Given the description of an element on the screen output the (x, y) to click on. 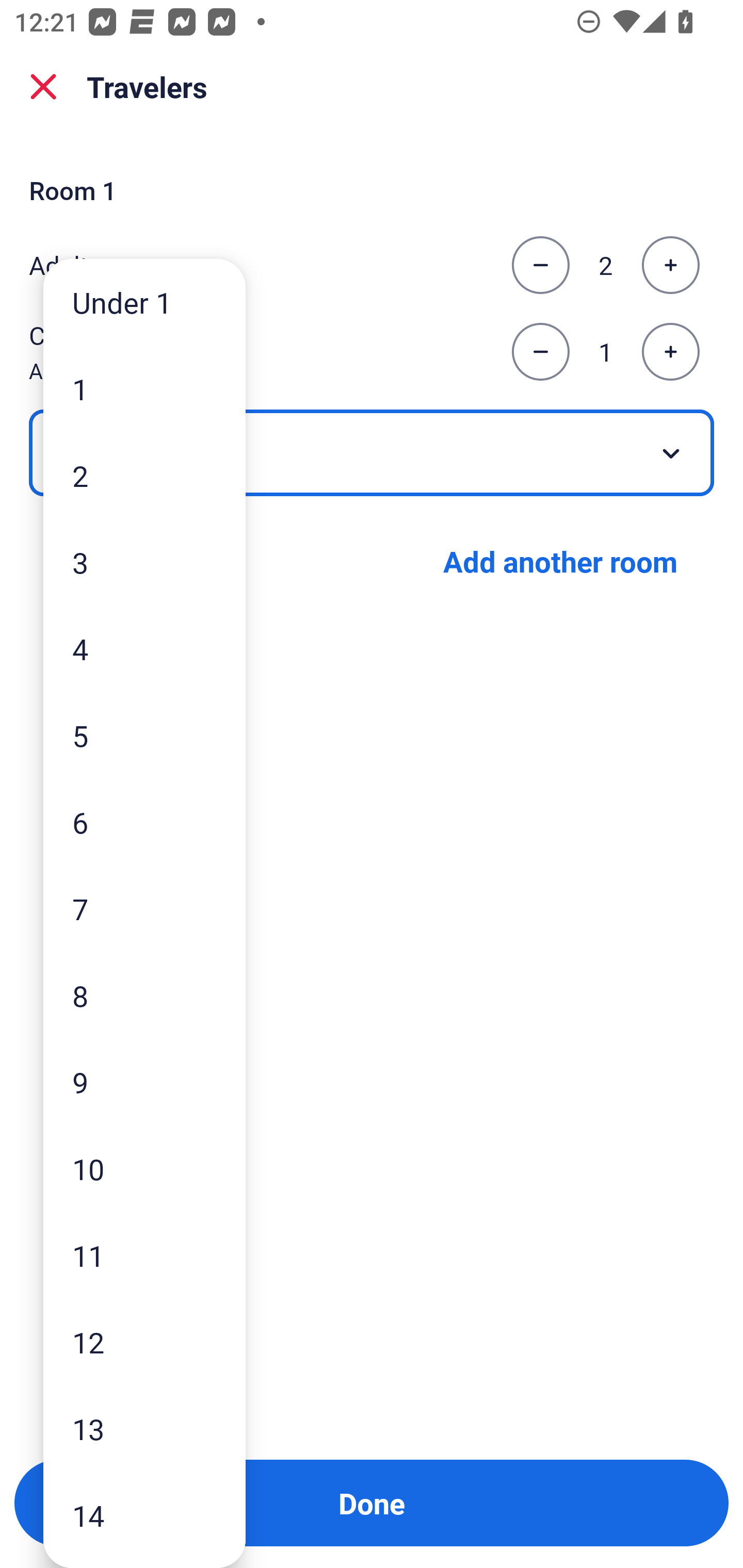
Under 1 (144, 301)
1 (144, 388)
2 (144, 475)
3 (144, 562)
4 (144, 648)
5 (144, 735)
6 (144, 822)
7 (144, 908)
8 (144, 994)
9 (144, 1081)
10 (144, 1168)
11 (144, 1255)
12 (144, 1342)
13 (144, 1429)
14 (144, 1515)
